Given the description of an element on the screen output the (x, y) to click on. 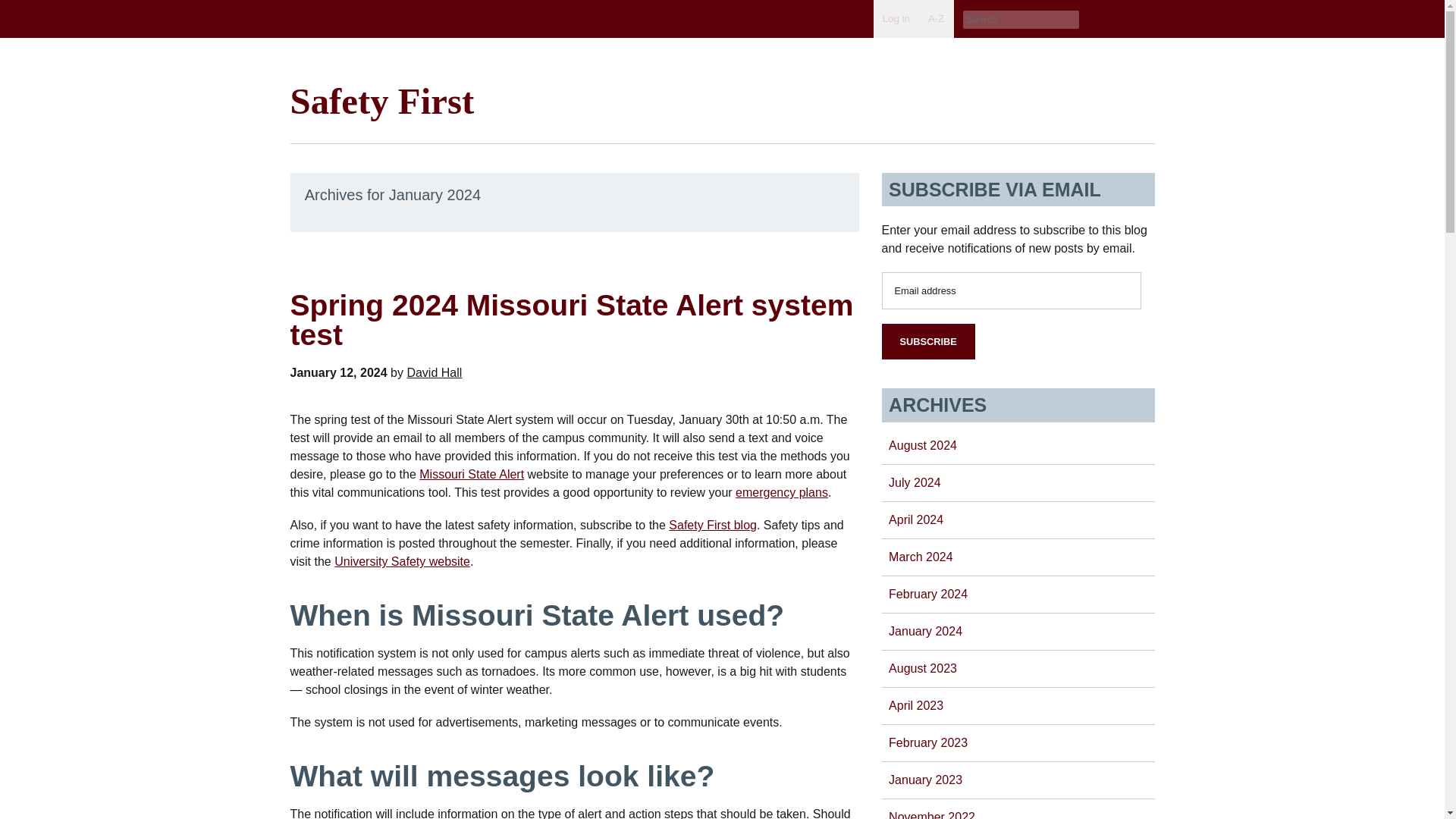
Safety First (381, 101)
emergency plans (781, 492)
Spring 2024 Missouri State Alert system test (571, 320)
Safety First blog (712, 524)
Log in (895, 18)
David Hall (433, 372)
A-Z (935, 18)
University Safety website (402, 561)
Missouri State Alert (471, 473)
